Given the description of an element on the screen output the (x, y) to click on. 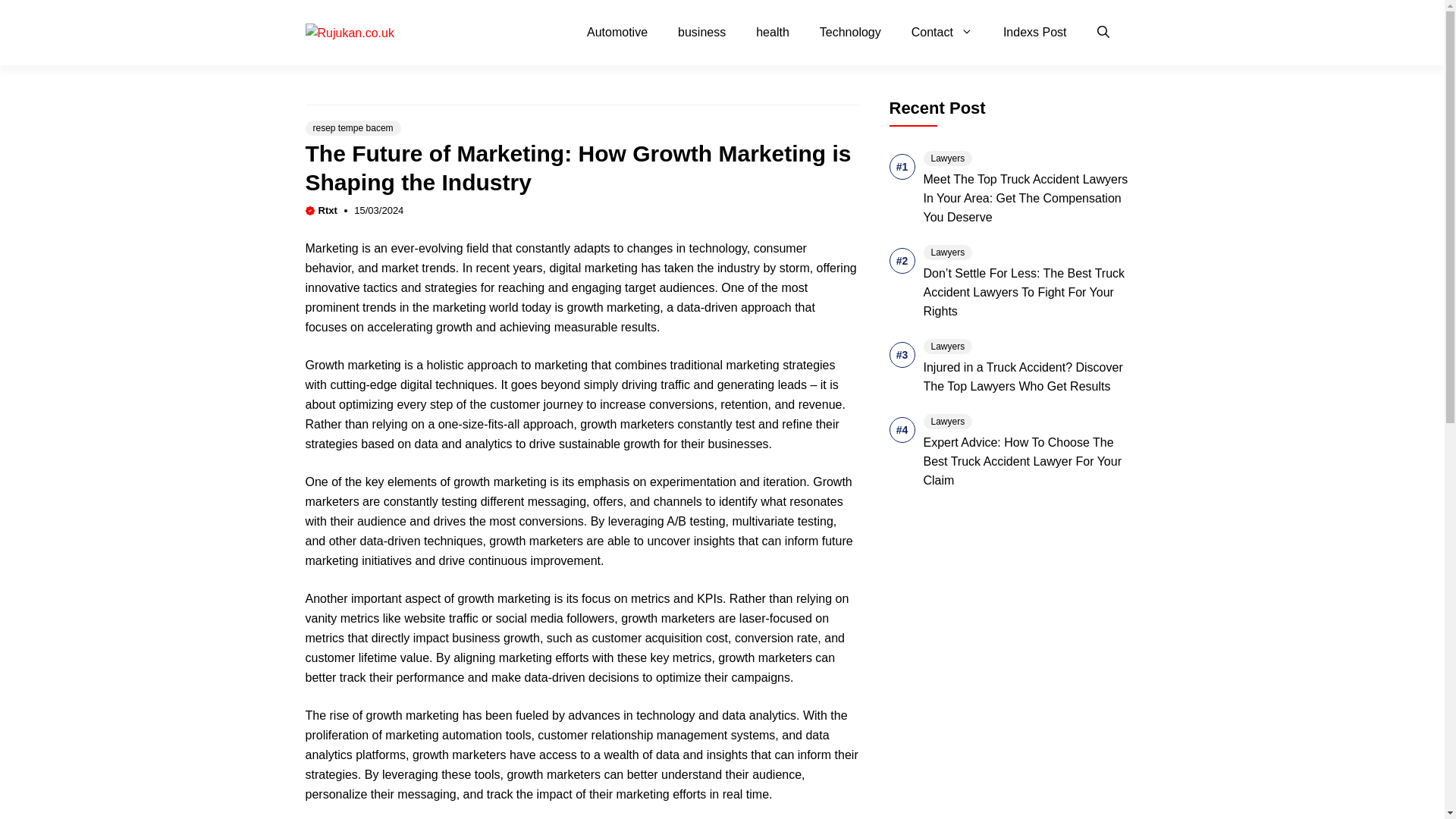
Contact (942, 32)
Rtxt (327, 210)
resep tempe bacem (352, 127)
business (701, 32)
Automotive (617, 32)
Technology (850, 32)
Indexs Post (1034, 32)
health (773, 32)
